Given the description of an element on the screen output the (x, y) to click on. 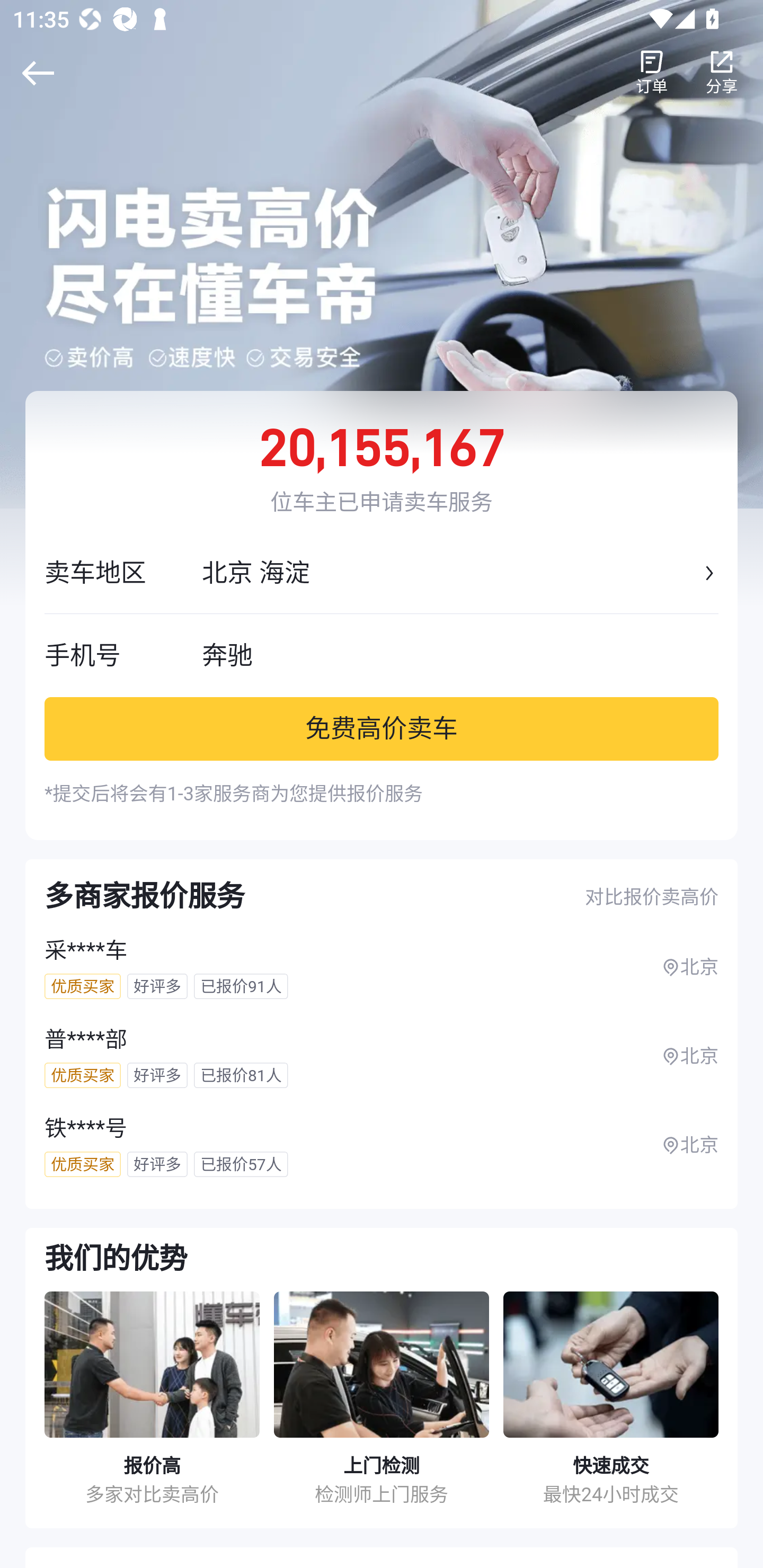
订单 (651, 72)
分享 (721, 72)
北京 海淀 (450, 572)
奔驰 (460, 655)
免费高价卖车 (381, 728)
